Given the description of an element on the screen output the (x, y) to click on. 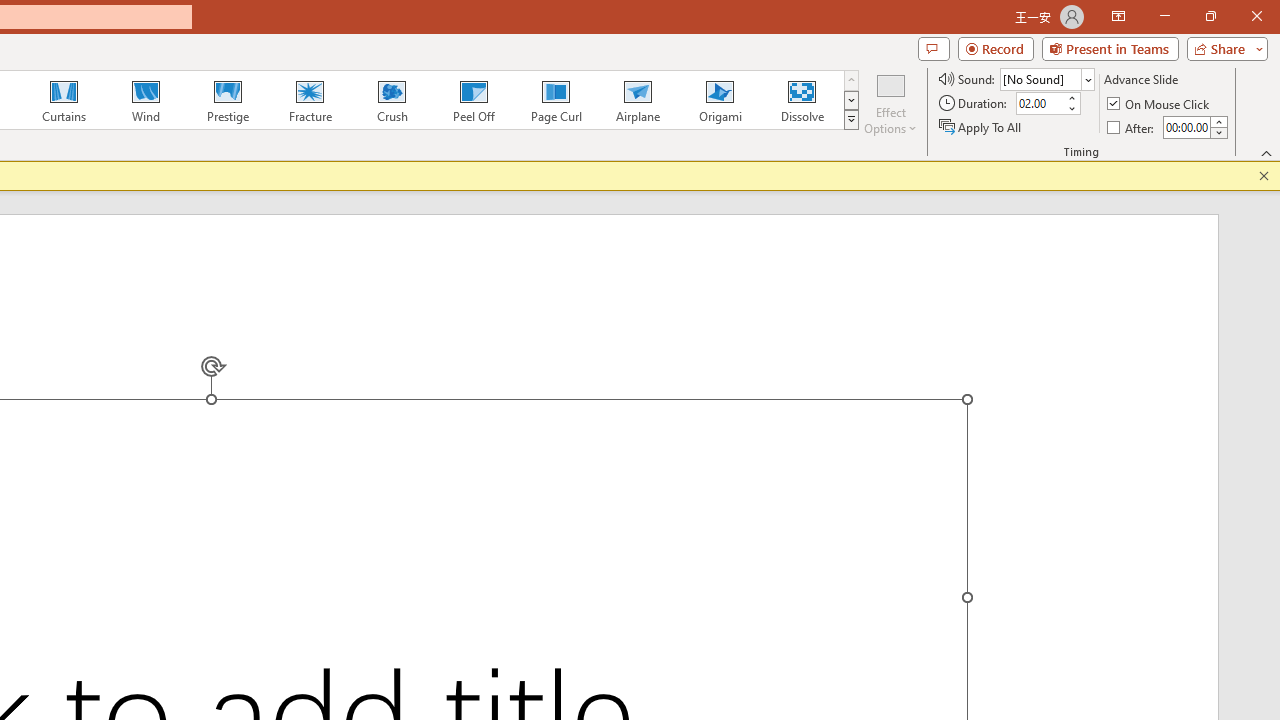
Dissolve (802, 100)
Page Curl (555, 100)
